Given the description of an element on the screen output the (x, y) to click on. 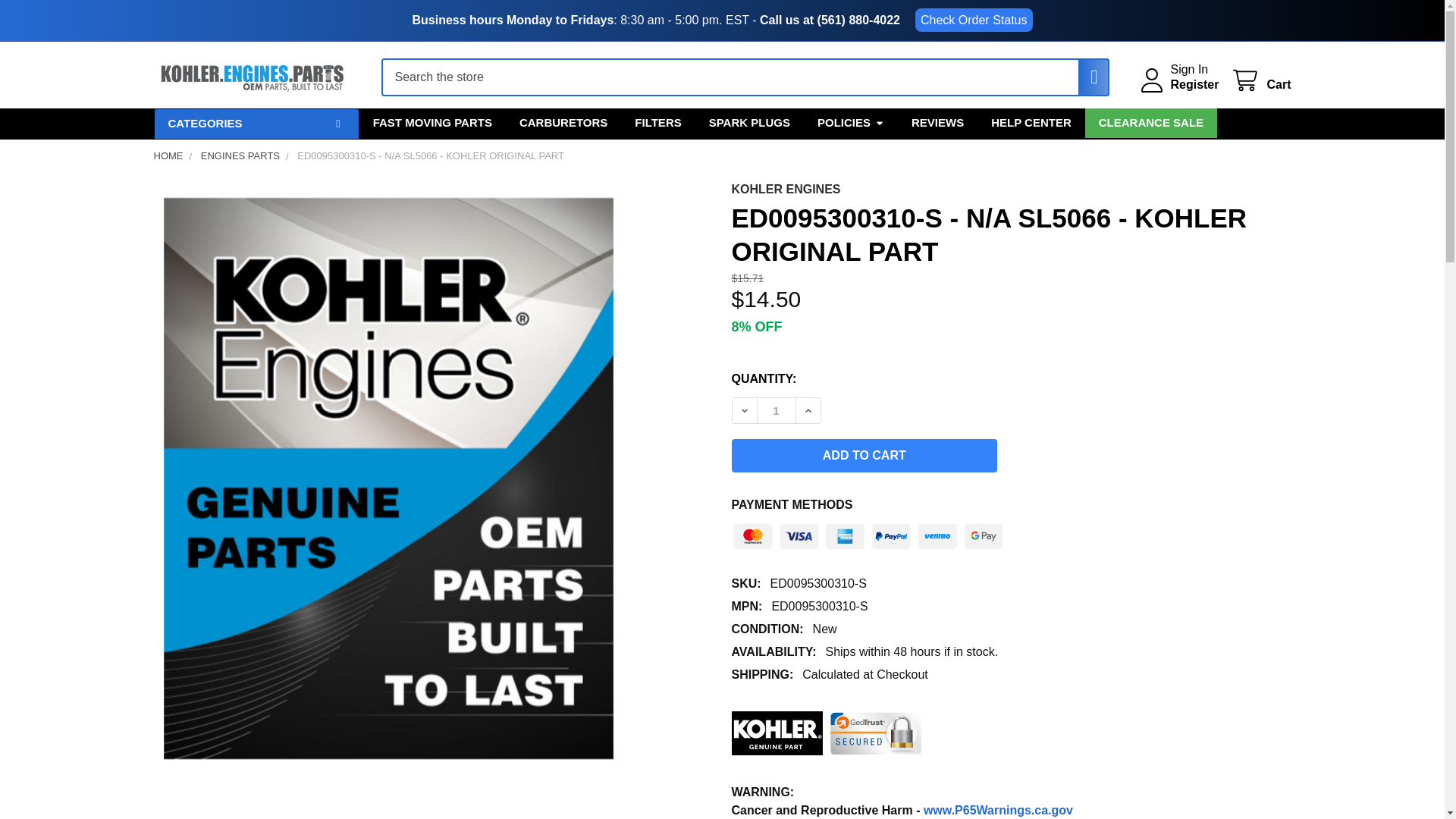
Cart (1260, 80)
Search (1085, 77)
Add to Cart (863, 455)
Kohler Engines Parts (251, 76)
CATEGORIES (255, 123)
Payment Methods (867, 533)
1 (775, 410)
Cart (1260, 80)
GeoTrust Secured (874, 732)
Check Order Status (973, 19)
Sign In (1189, 69)
Search (1085, 77)
Kohler Engines Original part (776, 732)
Register (1194, 84)
